Given the description of an element on the screen output the (x, y) to click on. 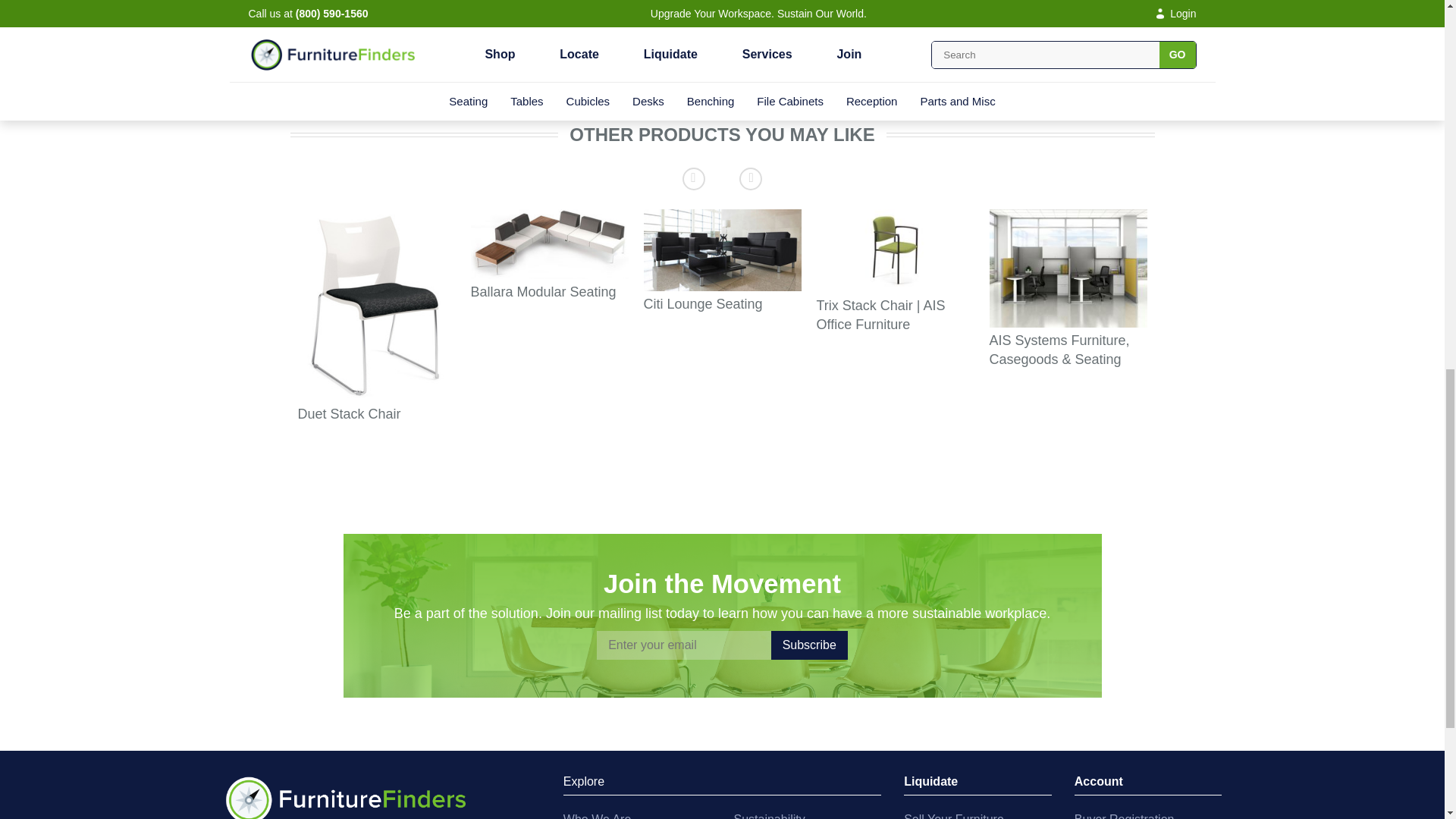
Ballara Modular Seating (548, 244)
Subscribe (809, 645)
Citi Lounge Seating (721, 250)
